Given the description of an element on the screen output the (x, y) to click on. 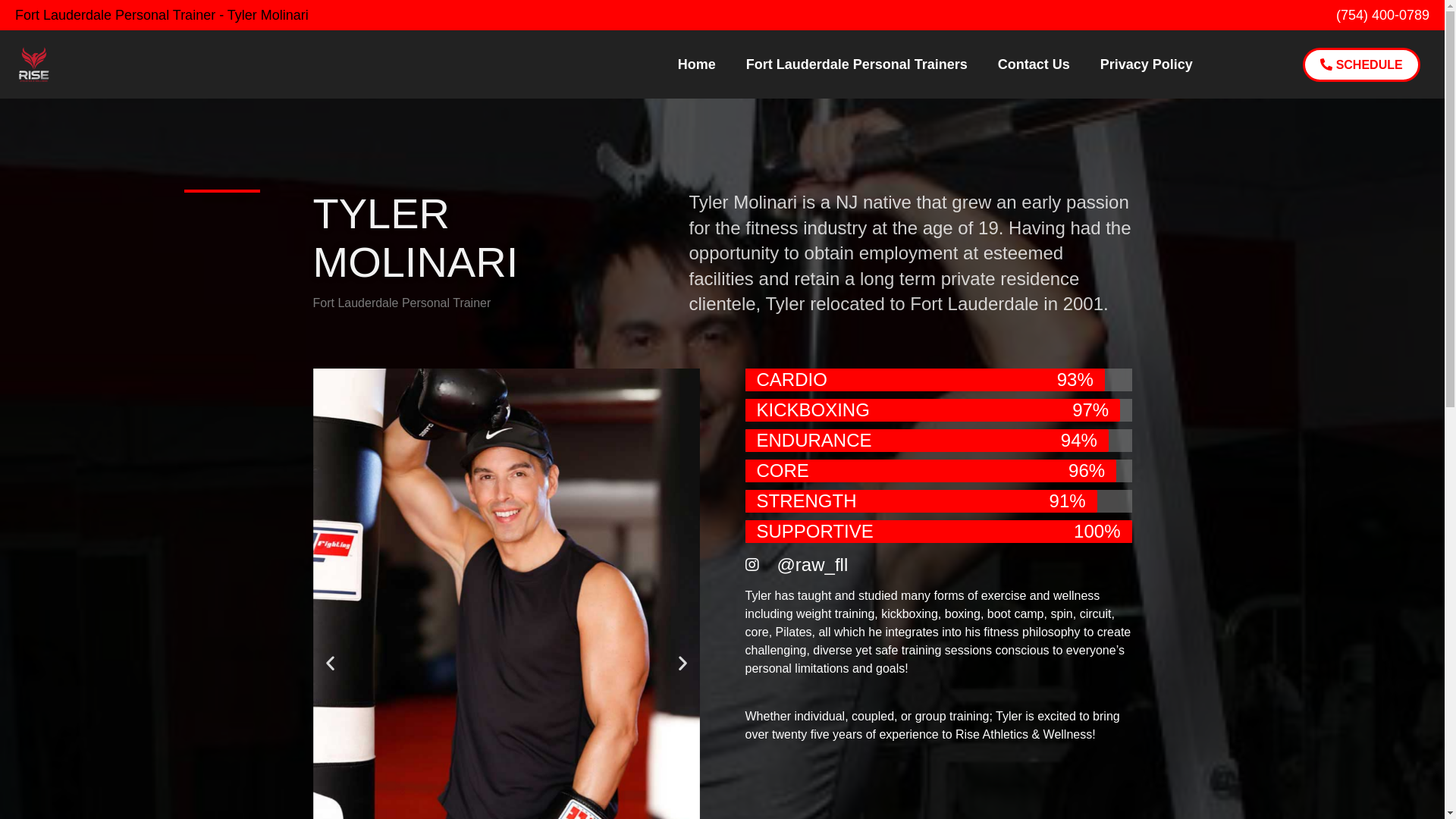
(754) 400-0789 Element type: text (1382, 14)
SCHEDULE Element type: text (1361, 64)
Privacy Policy Element type: text (1146, 64)
@raw_fll Element type: text (795, 564)
Fort Lauderdale Personal Trainers Element type: text (856, 64)
Contact Us Element type: text (1033, 64)
Home Element type: text (696, 64)
